Given the description of an element on the screen output the (x, y) to click on. 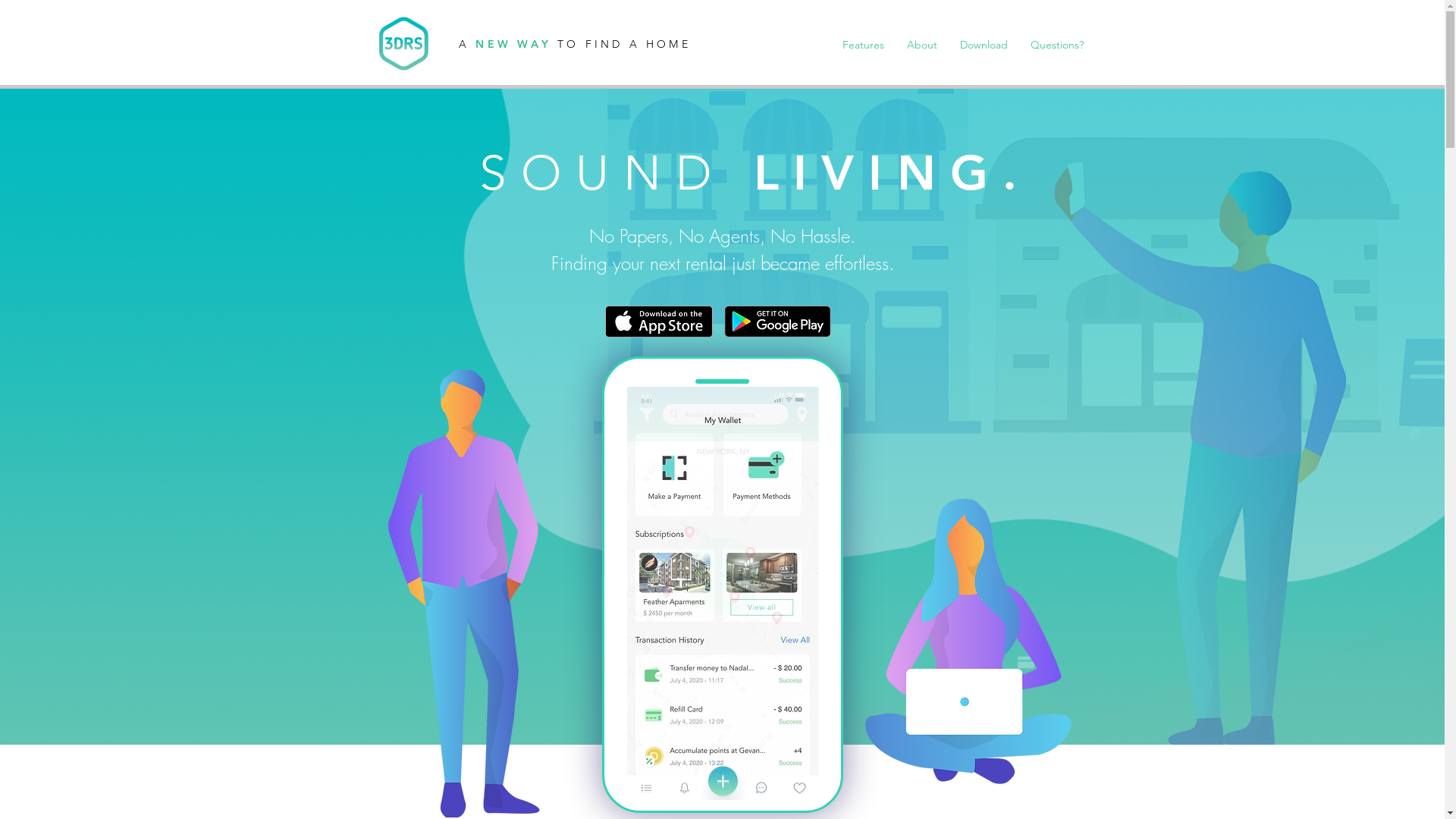
Download Element type: text (982, 44)
Questions? Element type: text (1057, 44)
Features Element type: text (863, 44)
About Element type: text (920, 44)
